Given the description of an element on the screen output the (x, y) to click on. 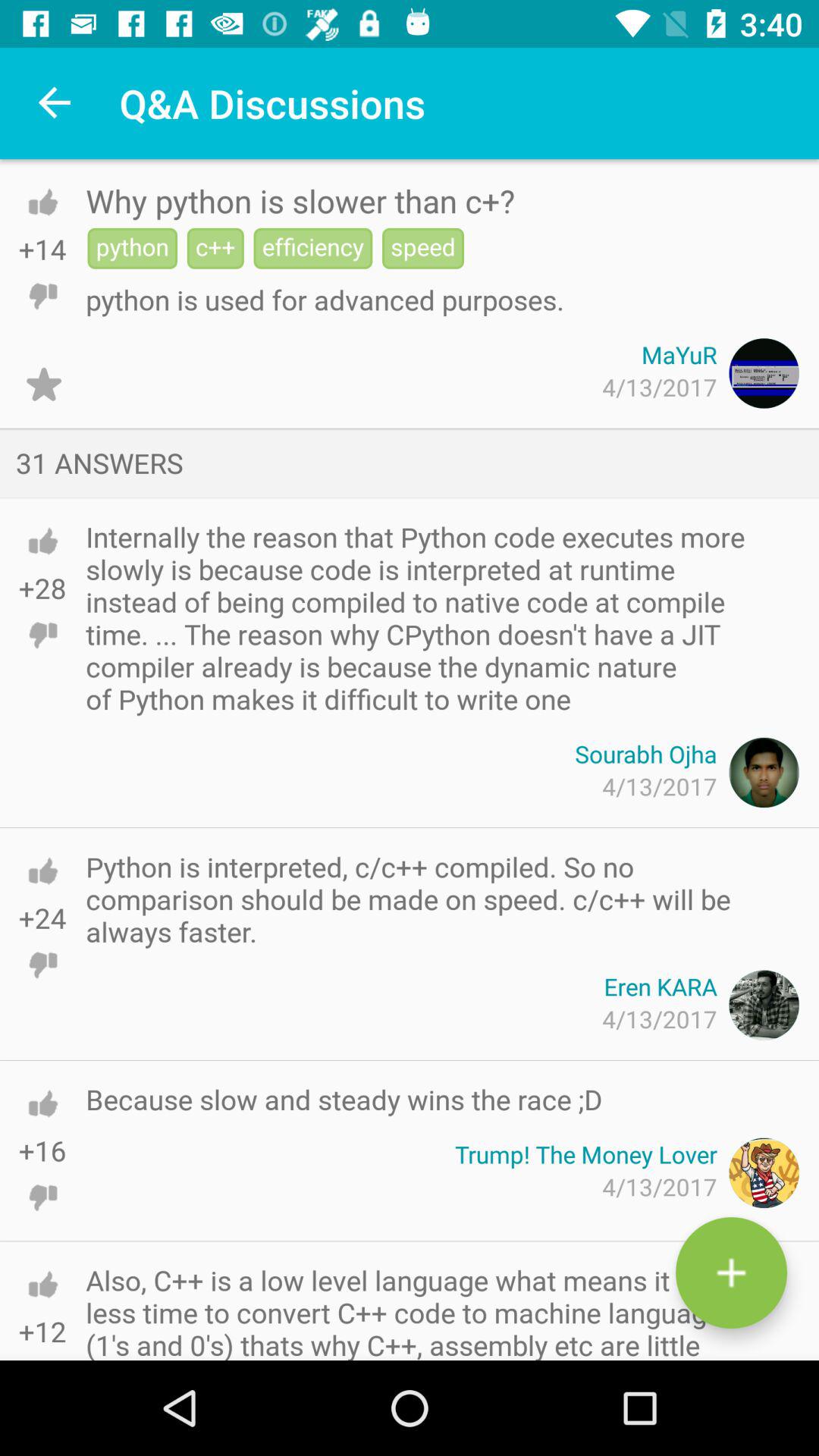
downvote the answer (42, 635)
